Given the description of an element on the screen output the (x, y) to click on. 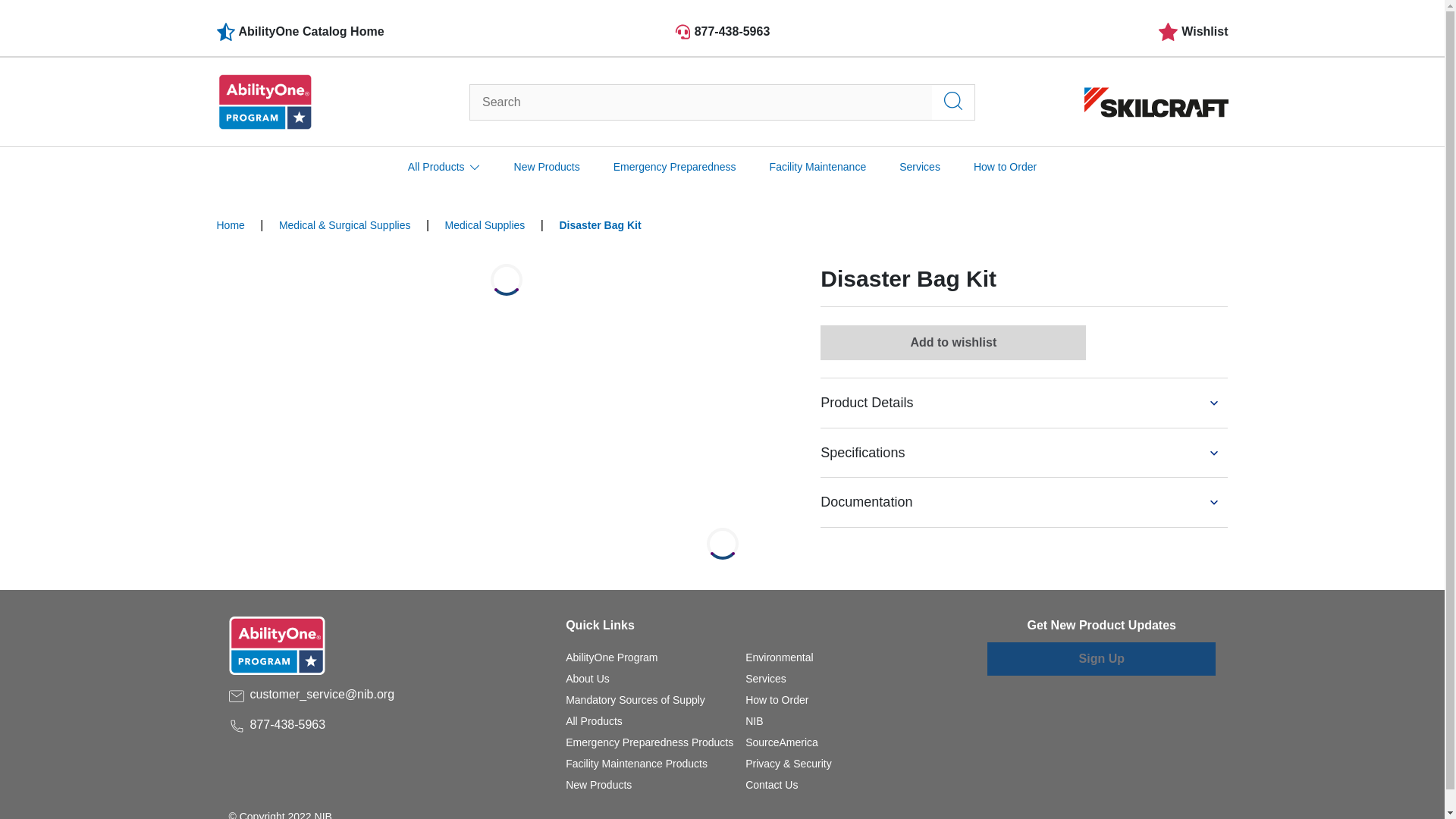
New Products (546, 166)
AbilityOne Program (612, 657)
Environmental (779, 657)
How to Order (776, 699)
All Products (594, 720)
Services (765, 678)
NIB (753, 720)
AbilityOne Program (612, 657)
Mandatory Sources of Supply (635, 699)
Contact Us (771, 784)
Home (230, 224)
About Us (588, 678)
AbilityOne Catalog Home (385, 31)
Services (765, 678)
SourceAmerica (781, 742)
